Given the description of an element on the screen output the (x, y) to click on. 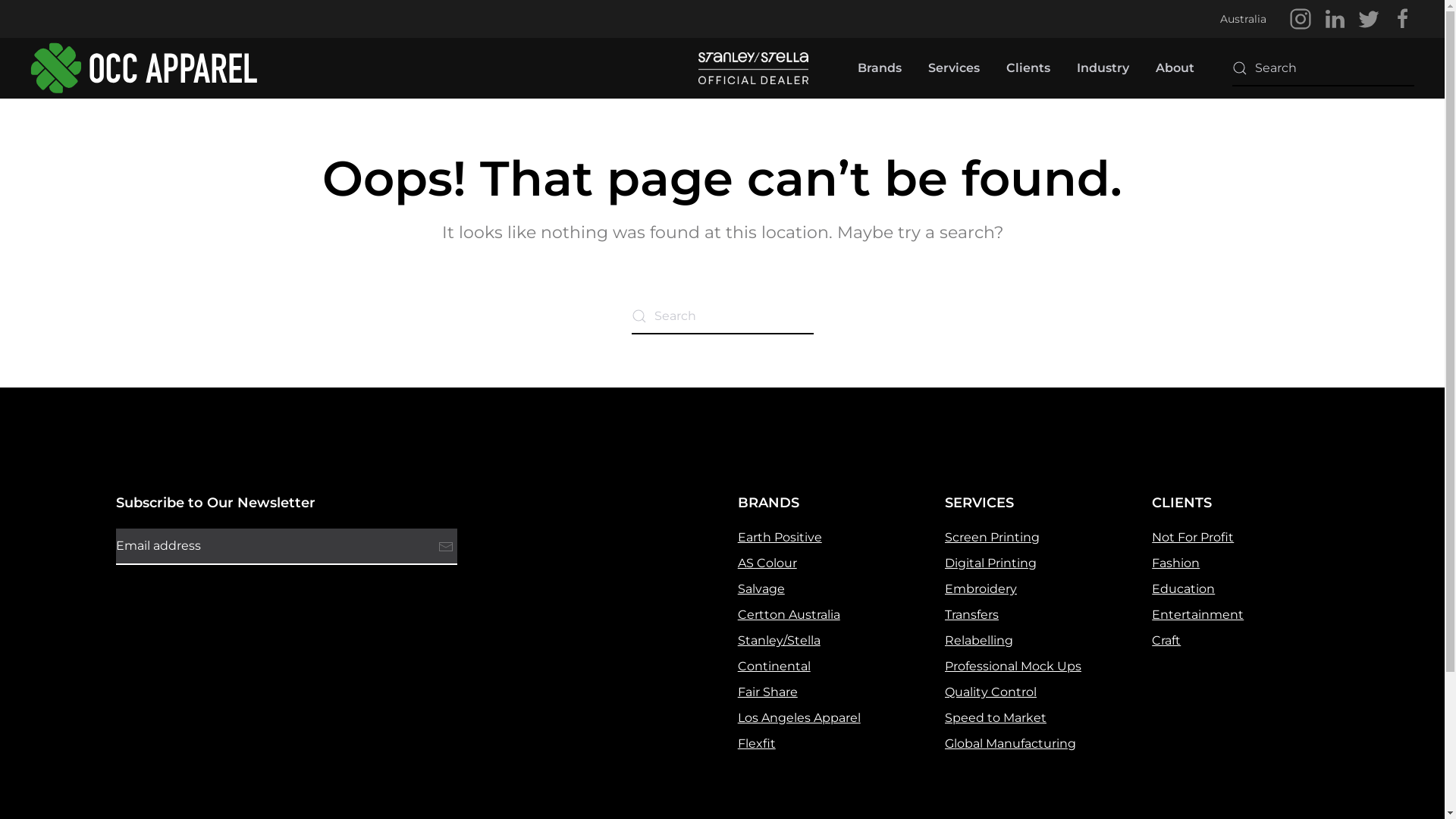
Not For Profit Element type: text (1192, 537)
Clients Element type: text (1028, 67)
Los Angeles Apparel Element type: text (798, 717)
Entertainment Element type: text (1197, 614)
Services Element type: text (953, 67)
Quality Control Element type: text (990, 691)
AS Colour Element type: text (767, 562)
Earth Positive Element type: text (779, 537)
Brands Element type: text (879, 67)
Flexfit Element type: text (756, 743)
Subscribe Element type: hover (444, 546)
Salvage Element type: text (760, 588)
Embroidery Element type: text (980, 588)
Relabelling Element type: text (978, 640)
Professional Mock Ups Element type: text (1012, 665)
Education Element type: text (1182, 588)
Certton Australia Element type: text (788, 614)
Speed to Market Element type: text (995, 717)
Fashion Element type: text (1175, 562)
Industry Element type: text (1102, 67)
Craft Element type: text (1165, 640)
Stanley/Stella Element type: text (778, 640)
Digital Printing Element type: text (990, 562)
Global Manufacturing Element type: text (1010, 743)
Continental Element type: text (773, 665)
Screen Printing Element type: text (991, 537)
Fair Share Element type: text (767, 691)
Transfers Element type: text (971, 614)
About Element type: text (1174, 67)
